Given the description of an element on the screen output the (x, y) to click on. 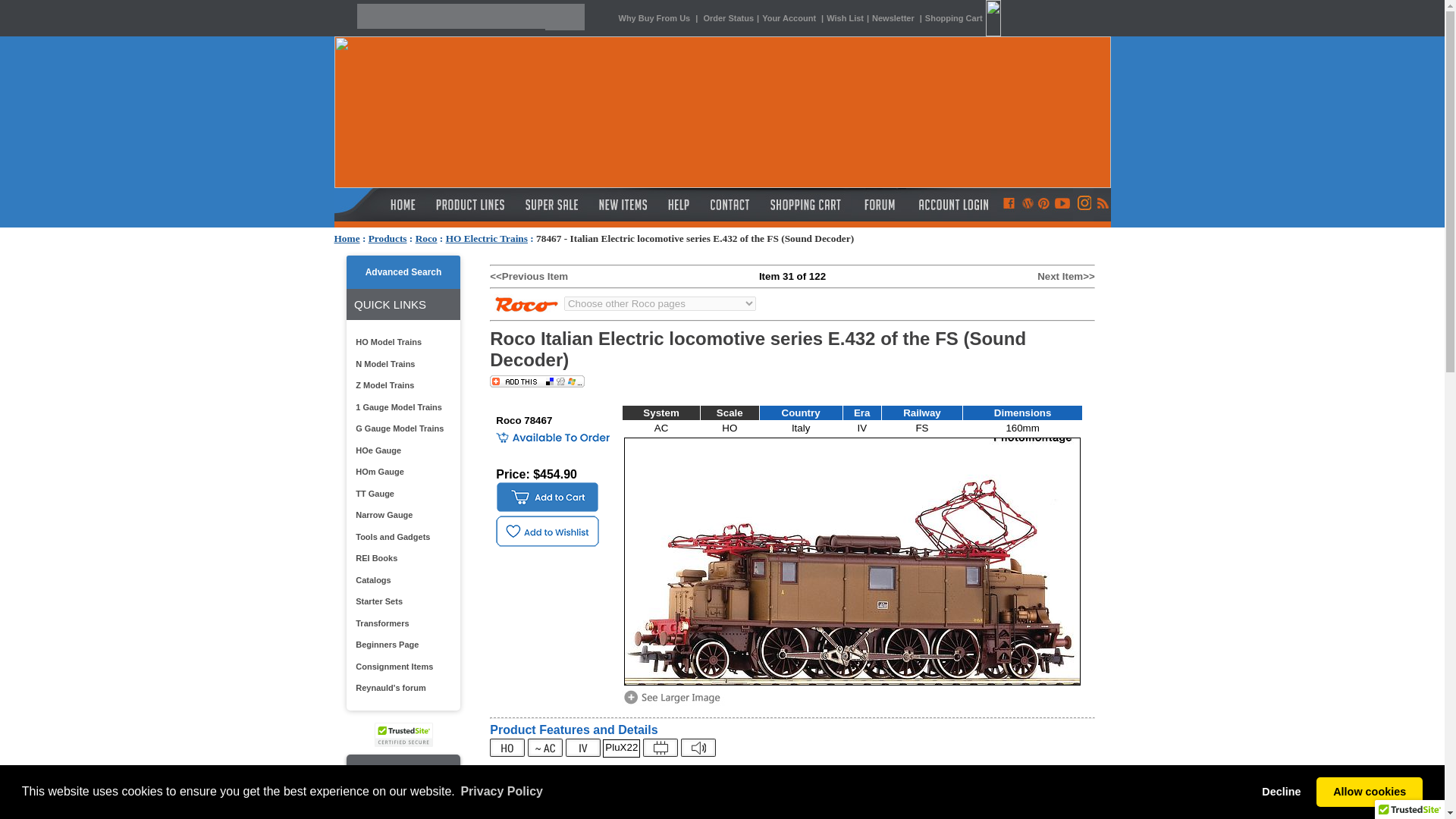
Order Status (728, 17)
Forum (878, 204)
Reynaulds Home (379, 204)
Products (387, 238)
HOe Gauge (400, 450)
Advanced Search (403, 271)
1 Gauge Model Trains (400, 406)
Decline (1281, 791)
HO Model Trains (400, 341)
Advanced Search (403, 271)
Access Your Account (950, 204)
Shopping Cart (964, 17)
G Gauge Model Trains (400, 428)
HO Model Trains (400, 341)
HOm Gauge (400, 472)
